Given the description of an element on the screen output the (x, y) to click on. 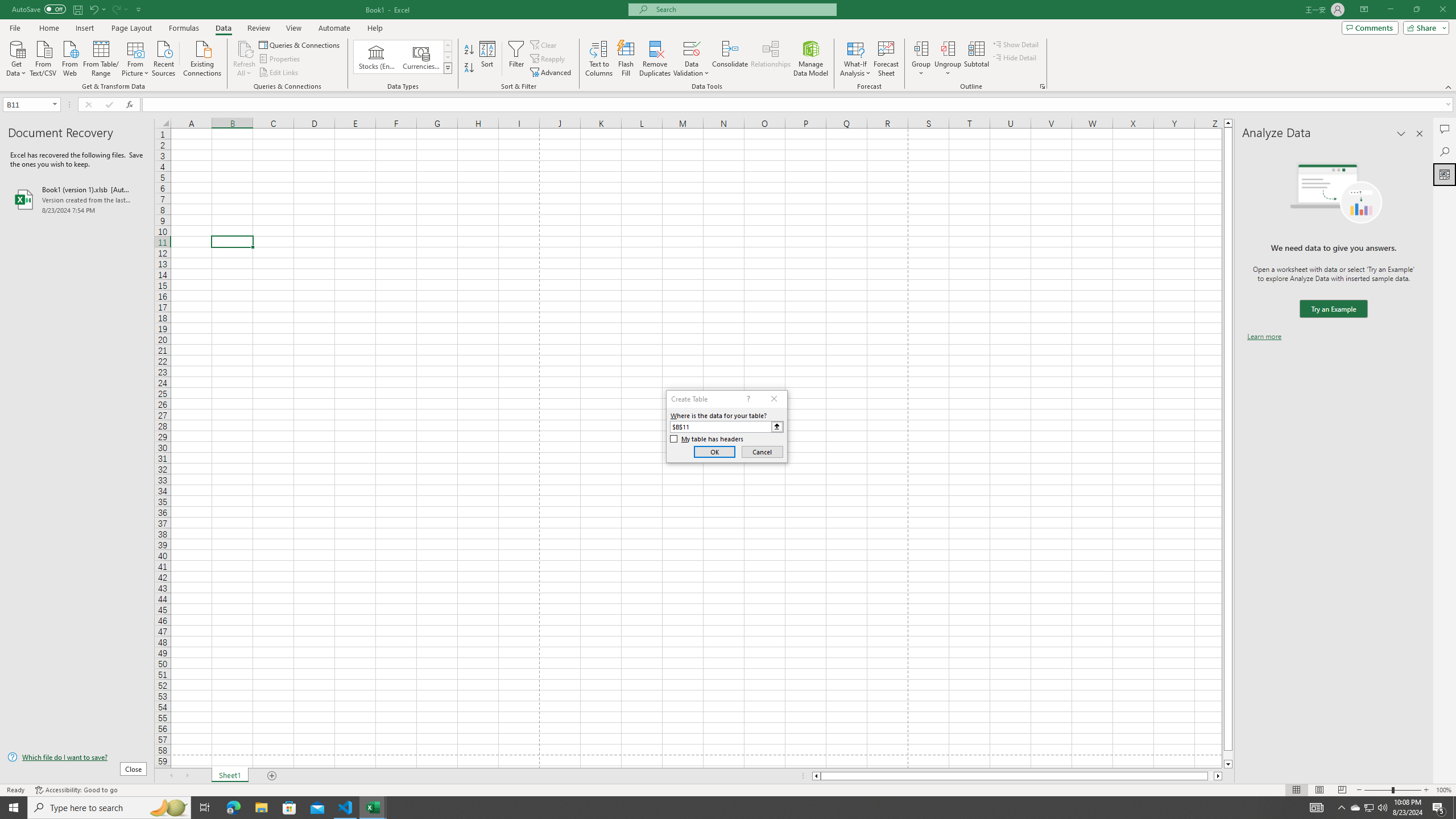
From Table/Range (100, 57)
Edit Links (279, 72)
